Given the description of an element on the screen output the (x, y) to click on. 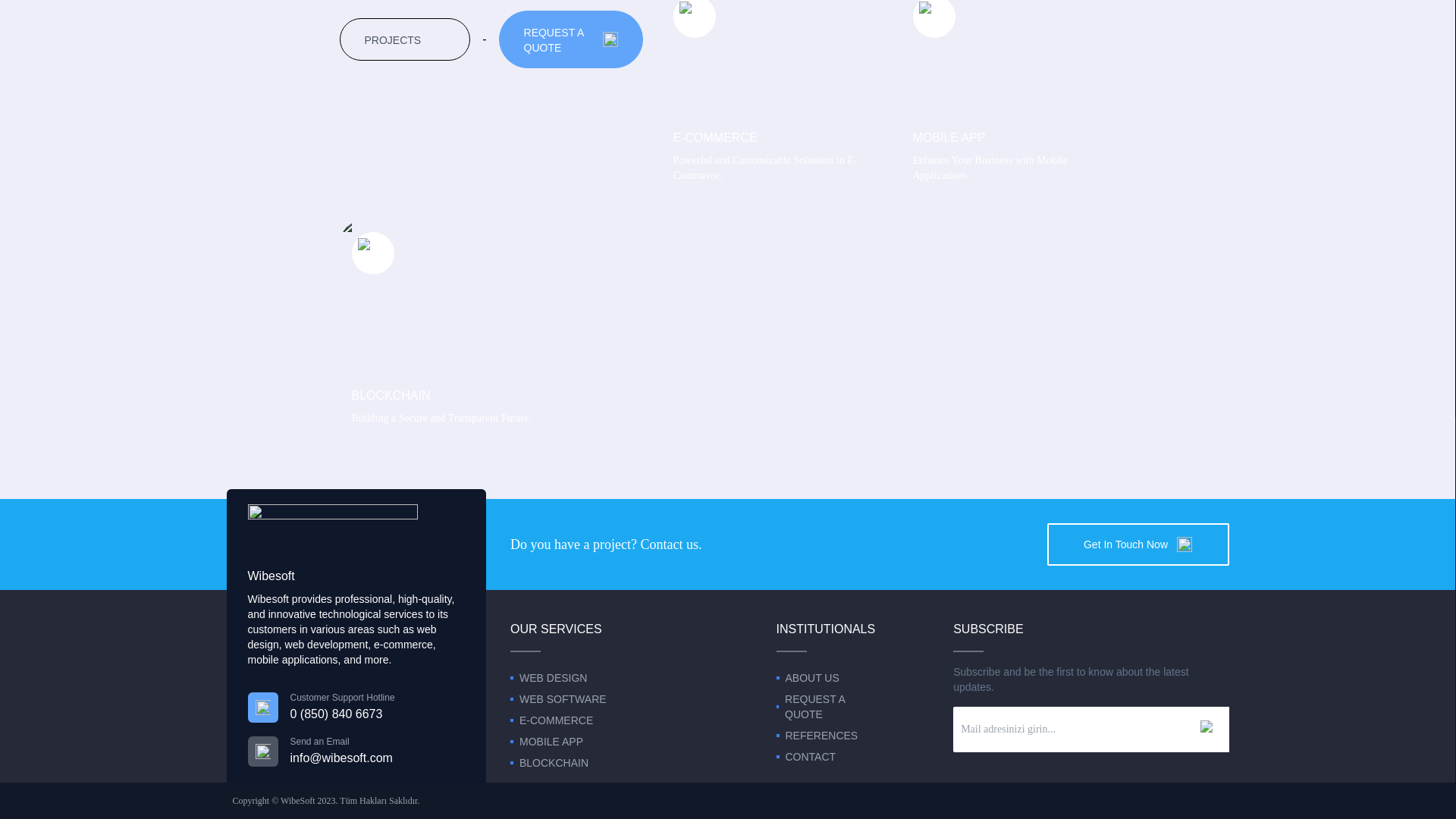
PROJECTS (404, 39)
REQUEST A QUOTE (1008, 97)
